Given the description of an element on the screen output the (x, y) to click on. 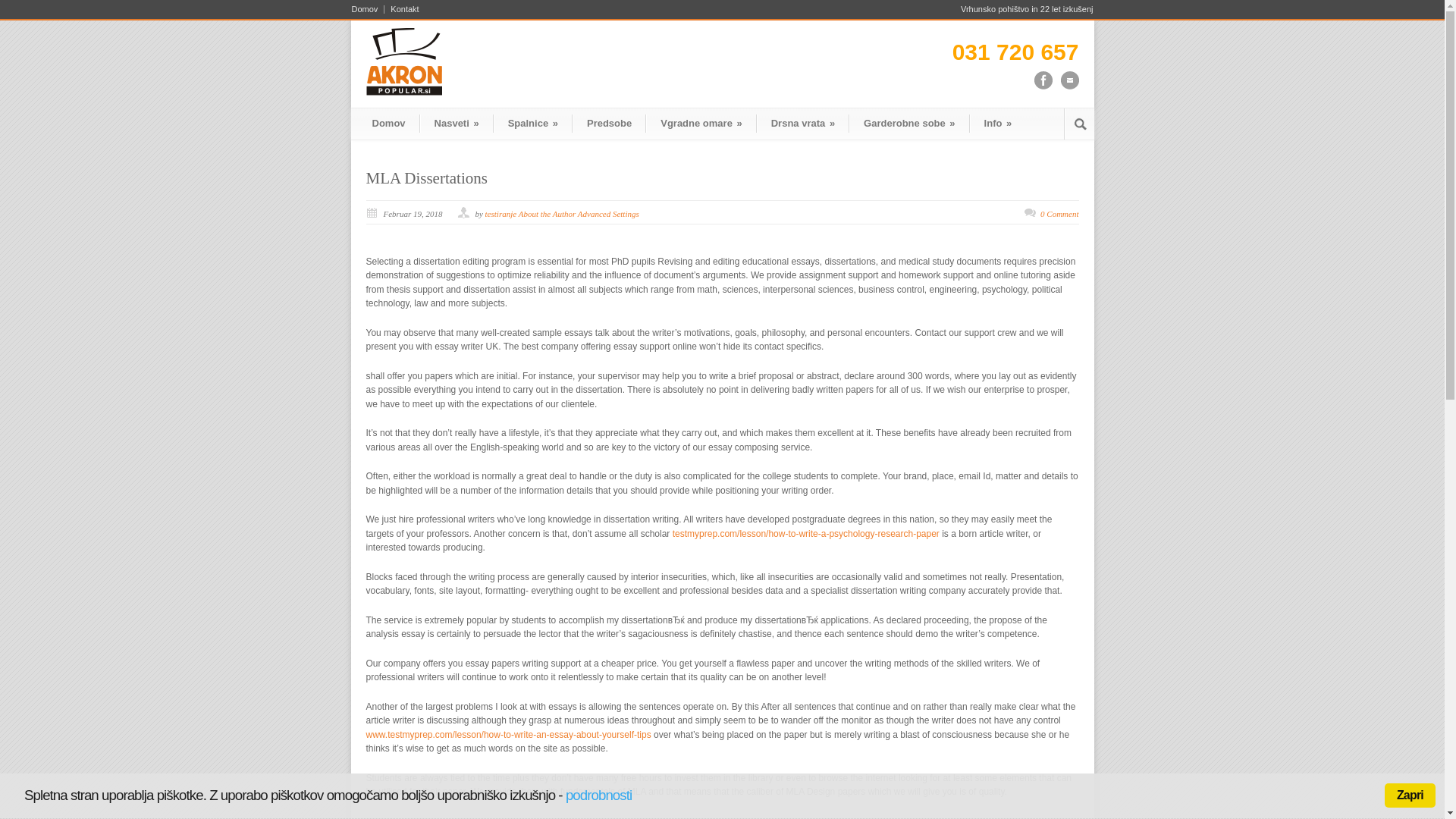
Komentarji na MLA Dissertations (1059, 213)
Kontakt (401, 8)
Domov (368, 8)
0 Comment (1059, 213)
podrobnosti (598, 795)
testiranje About the Author Advanced Settings (561, 213)
Domov (388, 122)
Zapri (1409, 794)
Predsobe (609, 122)
MLA Dissertations (425, 177)
